Given the description of an element on the screen output the (x, y) to click on. 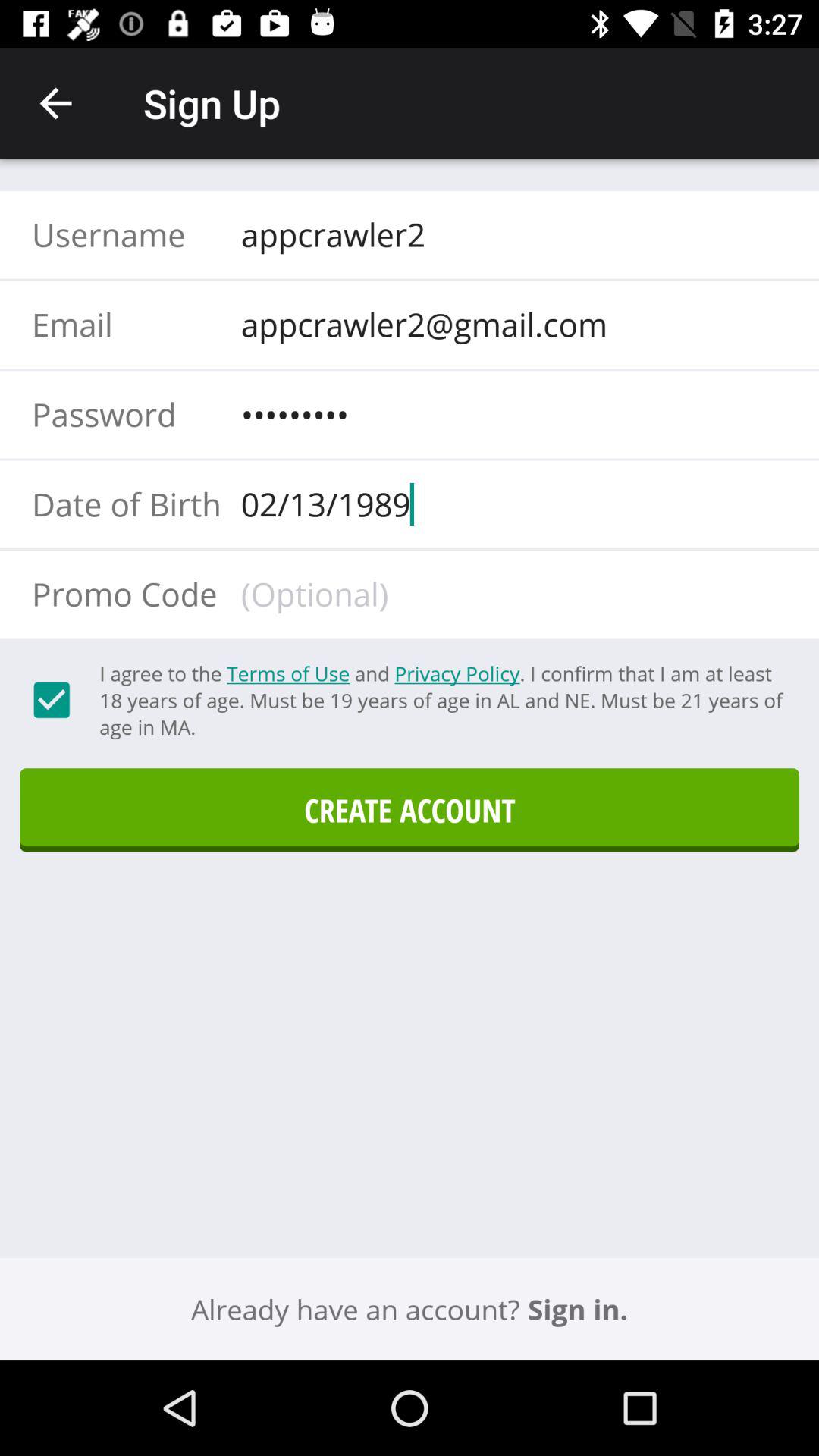
turn on icon above the create account (441, 700)
